Given the description of an element on the screen output the (x, y) to click on. 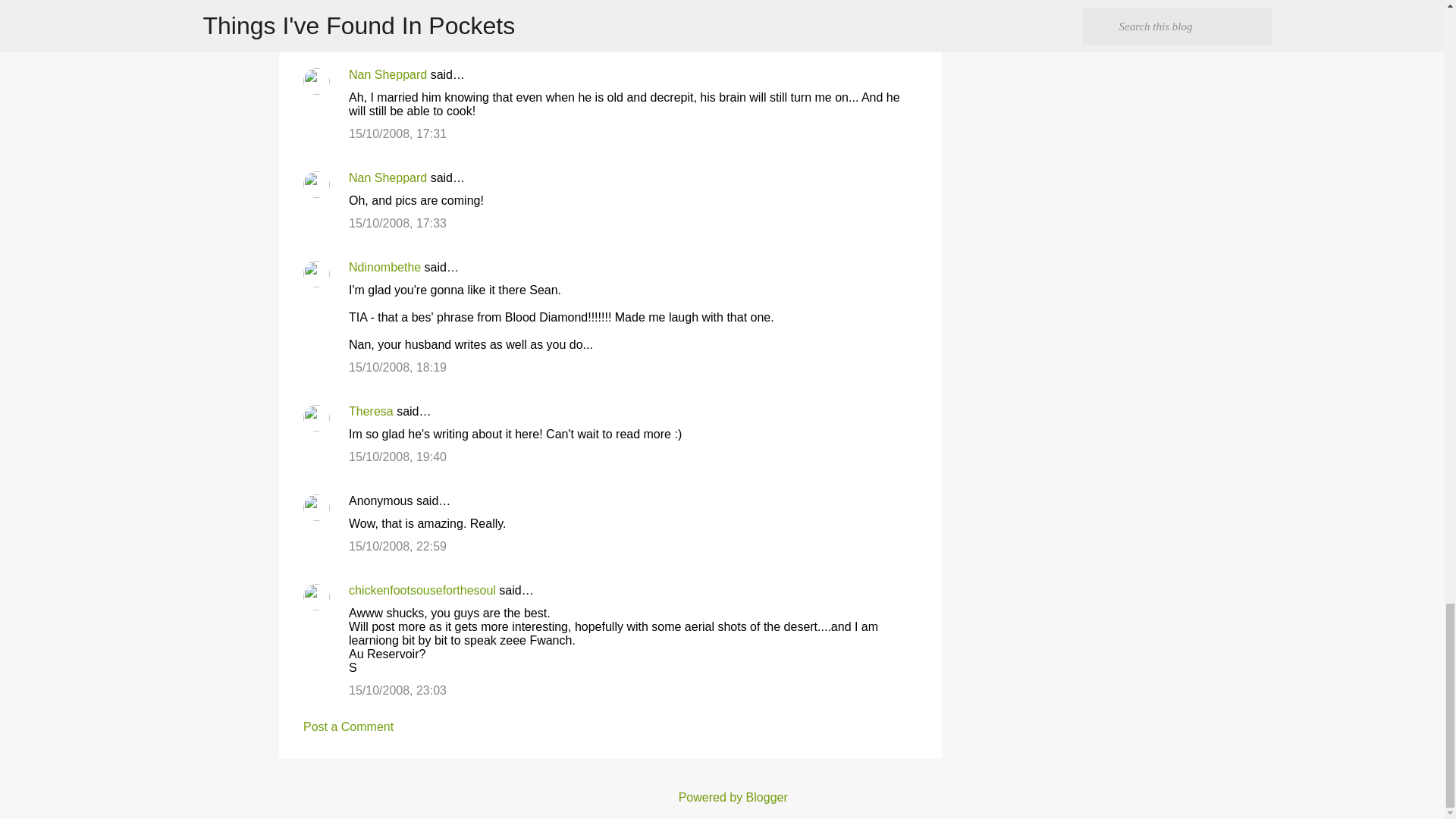
Ndinombethe (384, 267)
Nan Sheppard (387, 177)
Theresa (371, 410)
Nan Sheppard (387, 74)
